Given the description of an element on the screen output the (x, y) to click on. 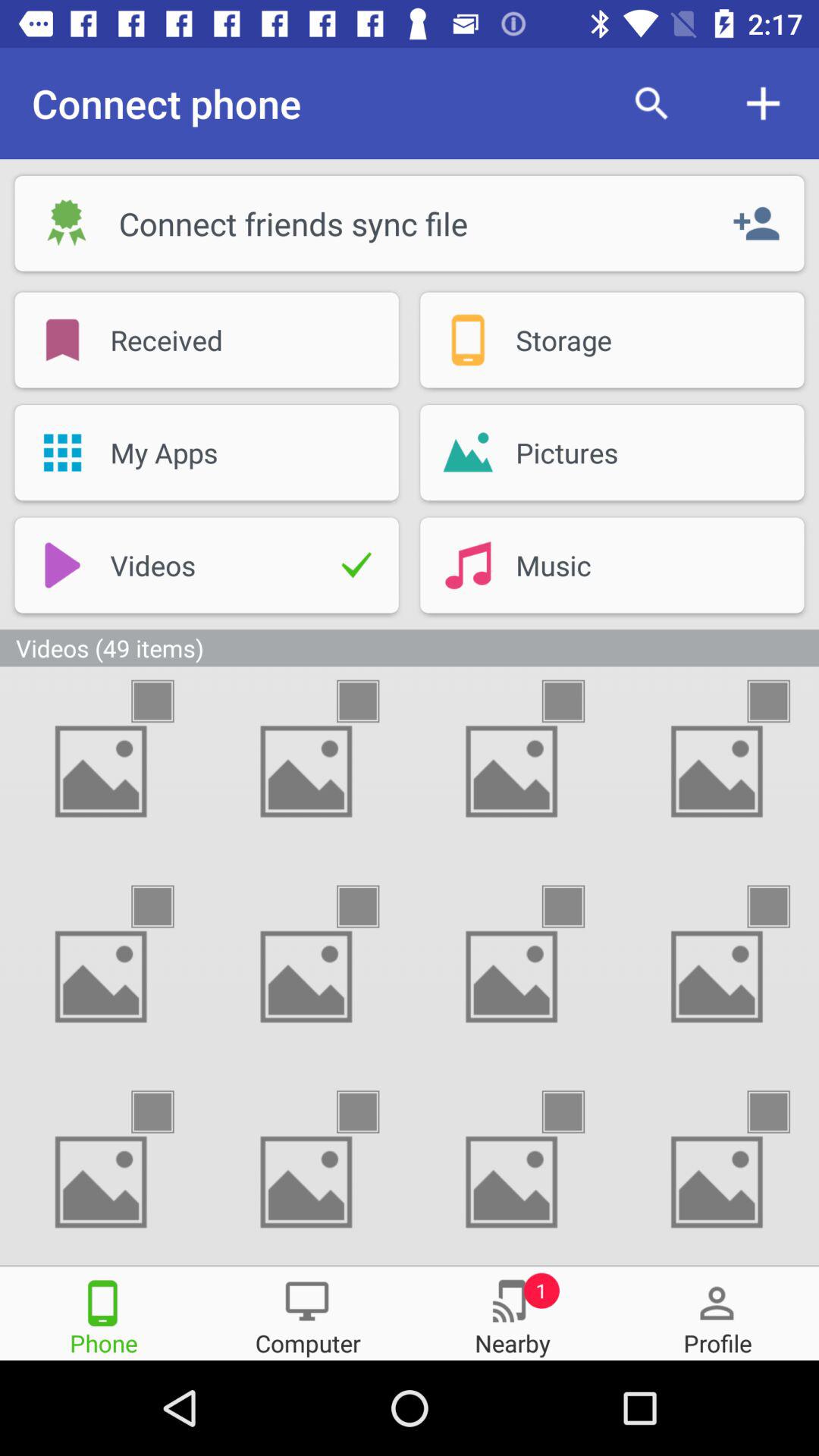
select to mark the video (371, 906)
